Given the description of an element on the screen output the (x, y) to click on. 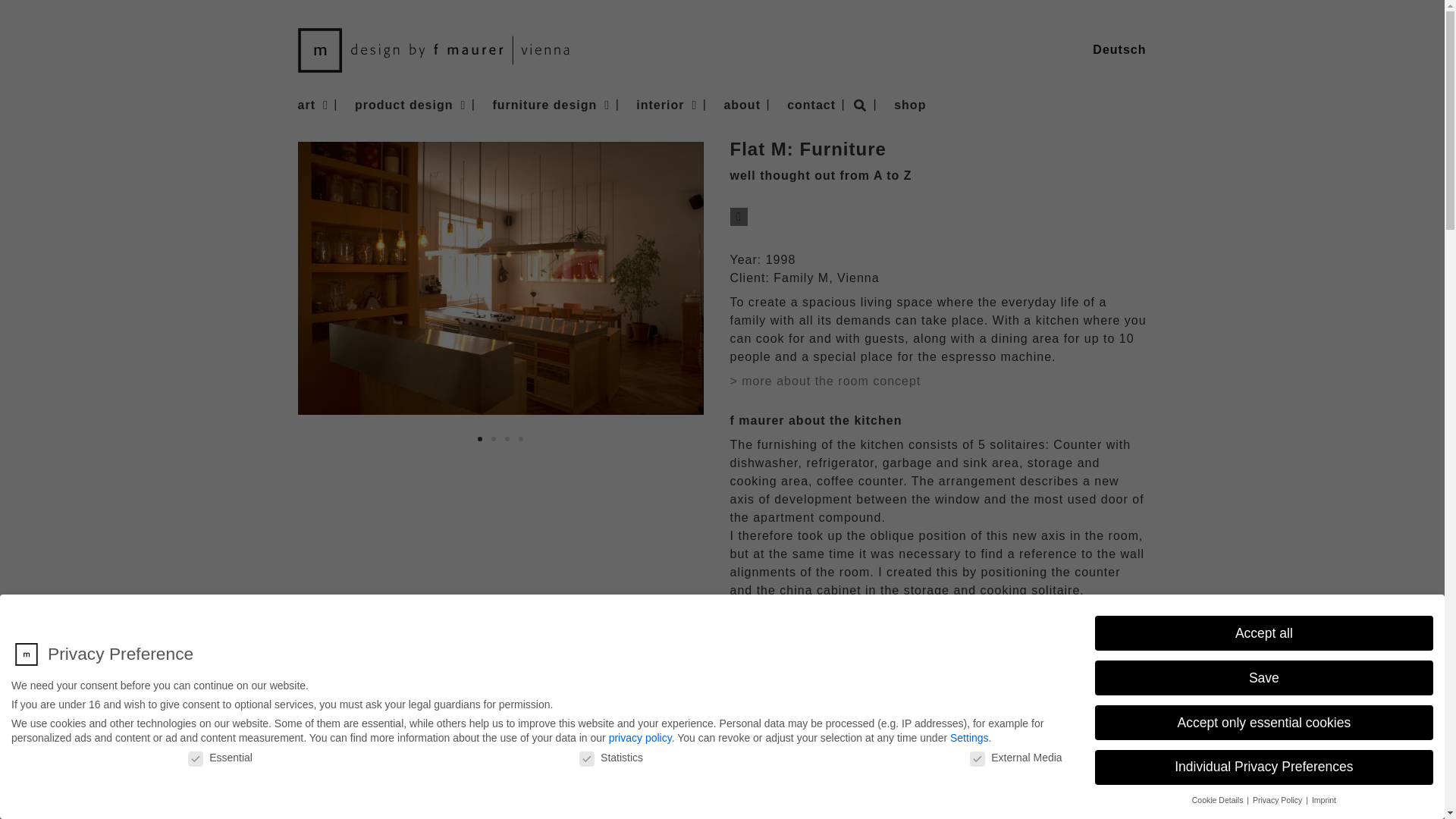
product design (410, 104)
shop (909, 104)
Deutsch (1119, 49)
Deutsch (1119, 49)
interior (666, 104)
furniture design (551, 104)
about (741, 104)
contact (811, 104)
